Given the description of an element on the screen output the (x, y) to click on. 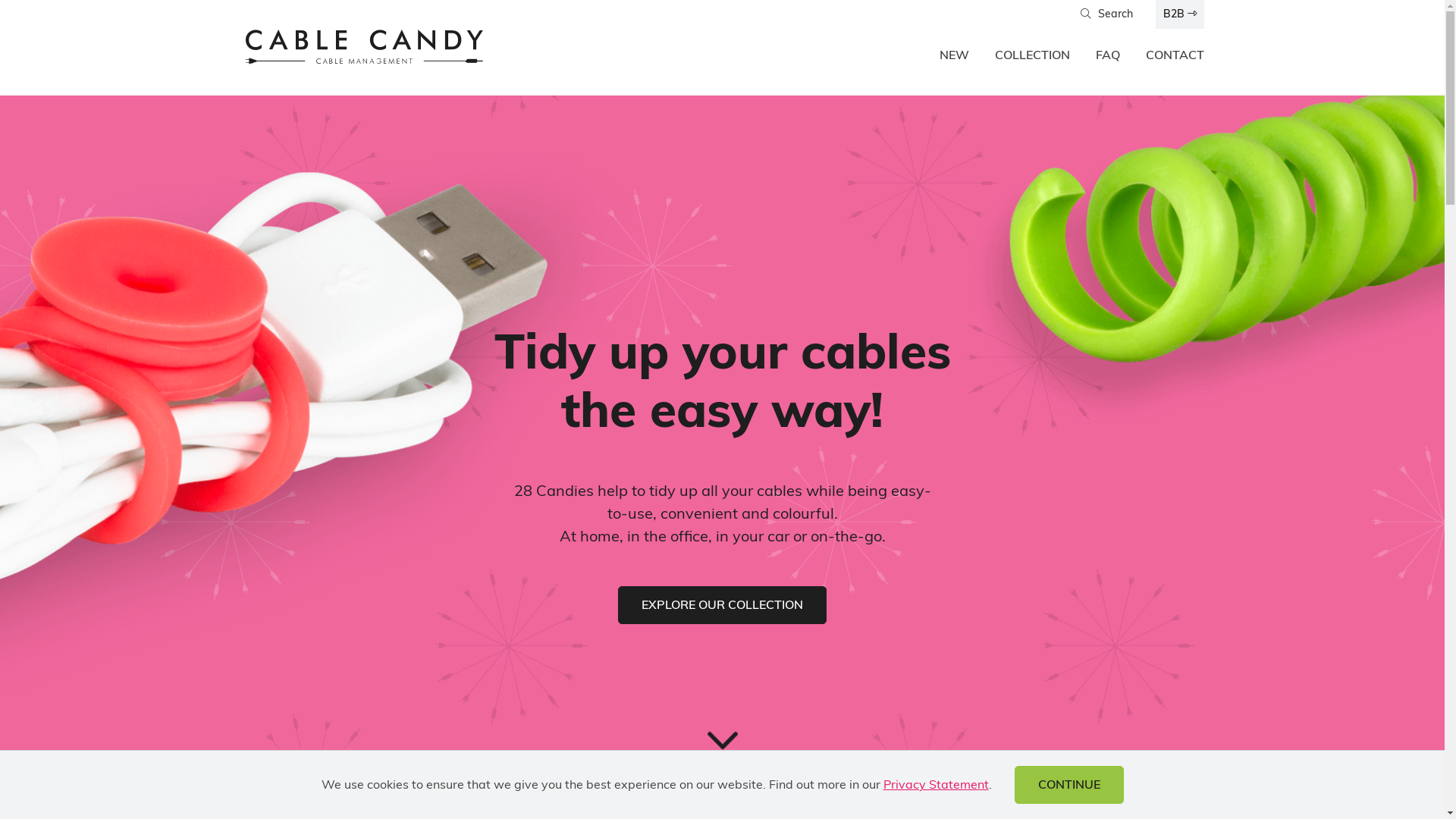
B2B Element type: text (1179, 14)
EXPLORE OUR COLLECTION Element type: text (722, 605)
Privacy Statement Element type: text (935, 784)
COLLECTION Element type: text (1032, 57)
CONTINUE Element type: text (1068, 784)
NEW Element type: text (953, 57)
Search Element type: text (1105, 14)
CONTACT Element type: text (1174, 57)
FAQ Element type: text (1107, 57)
